Given the description of an element on the screen output the (x, y) to click on. 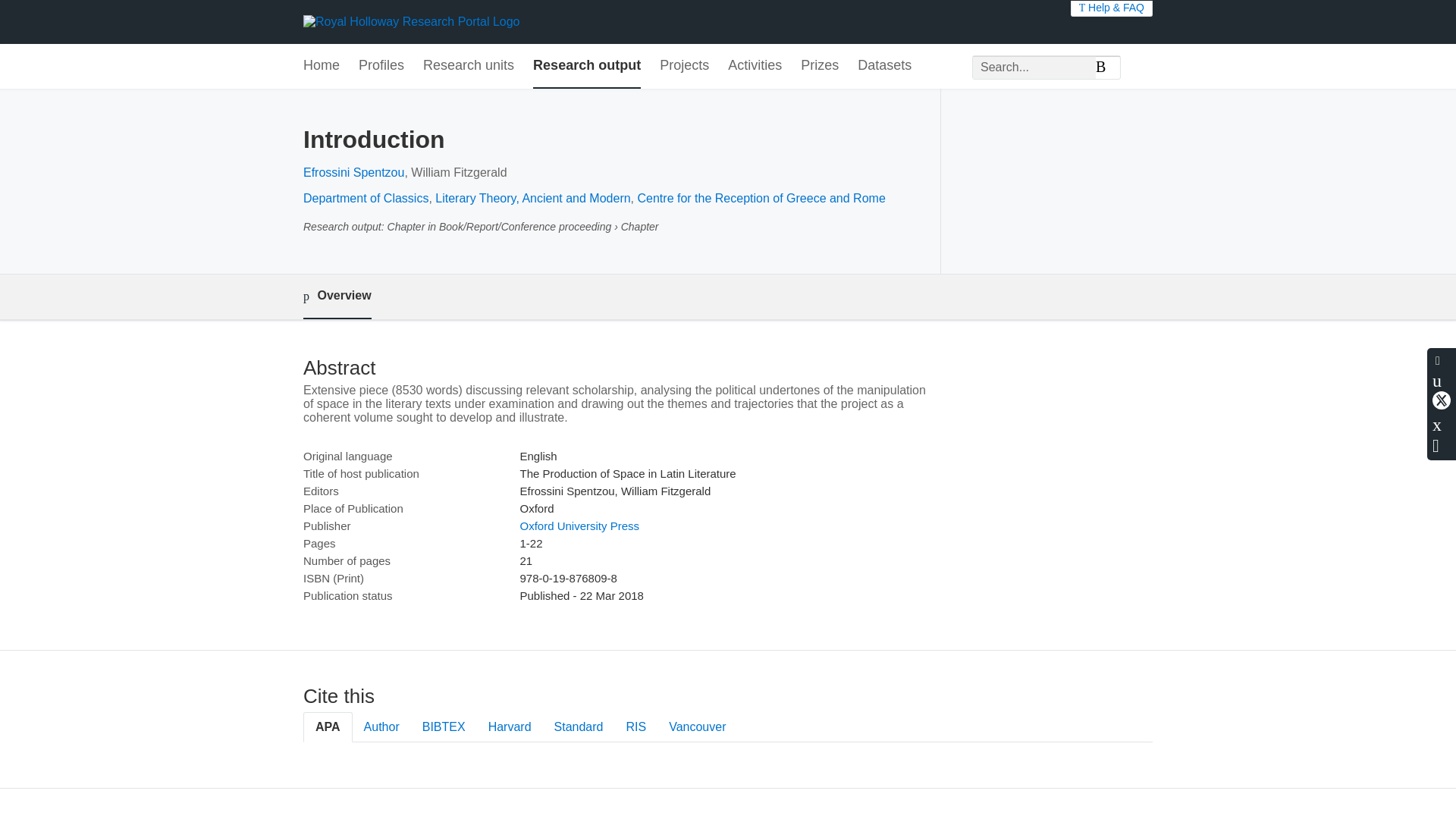
Profiles (381, 66)
Centre for the Reception of Greece and Rome (761, 197)
Overview (336, 296)
Oxford University Press (579, 525)
Department of Classics (365, 197)
Datasets (884, 66)
Activities (754, 66)
Efrossini Spentzou (353, 172)
Research units (468, 66)
